Given the description of an element on the screen output the (x, y) to click on. 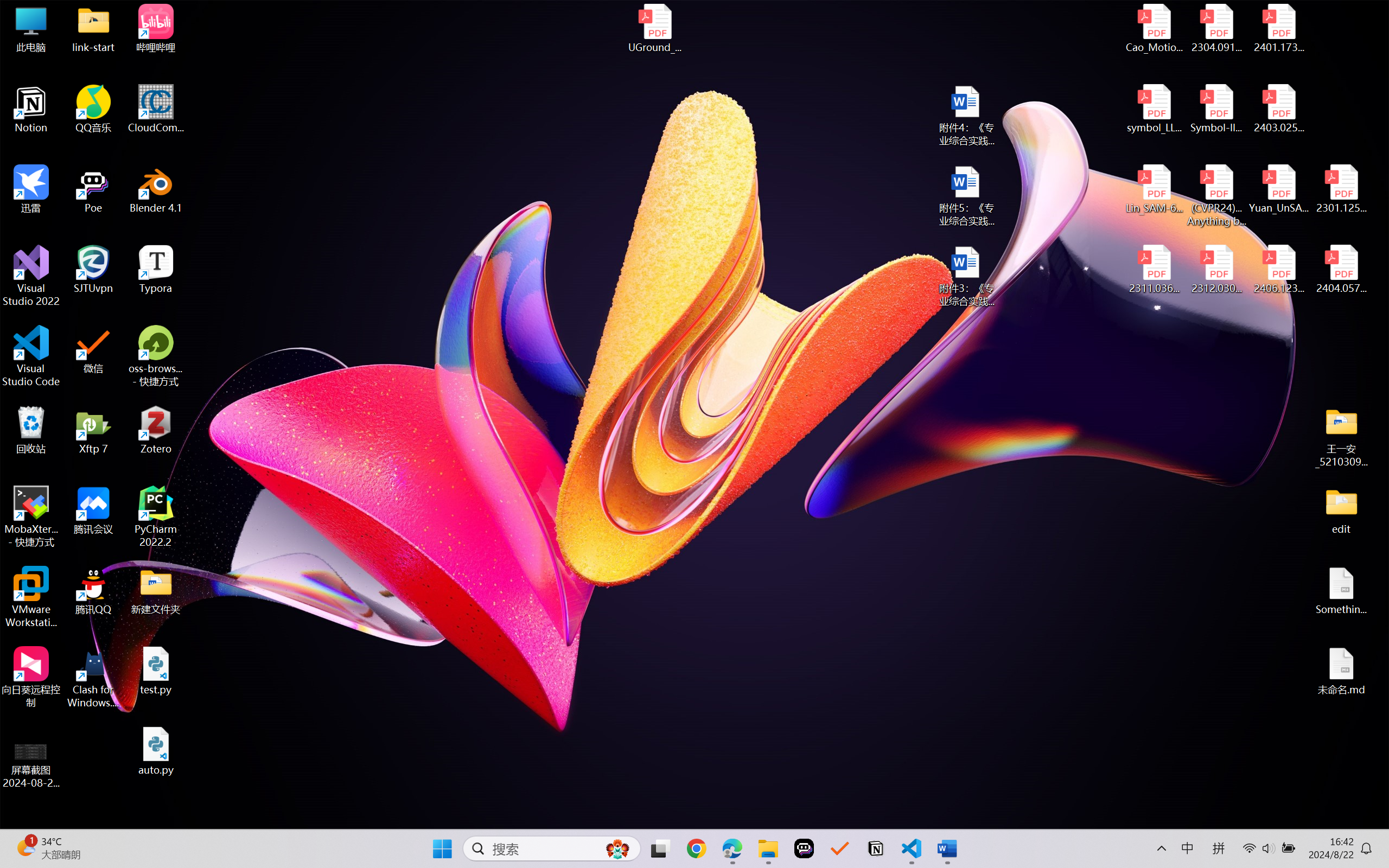
test.py (156, 670)
CloudCompare (156, 109)
2301.12597v3.pdf (1340, 189)
UGround_paper.pdf (654, 28)
2401.17399v1.pdf (1278, 28)
